Given the description of an element on the screen output the (x, y) to click on. 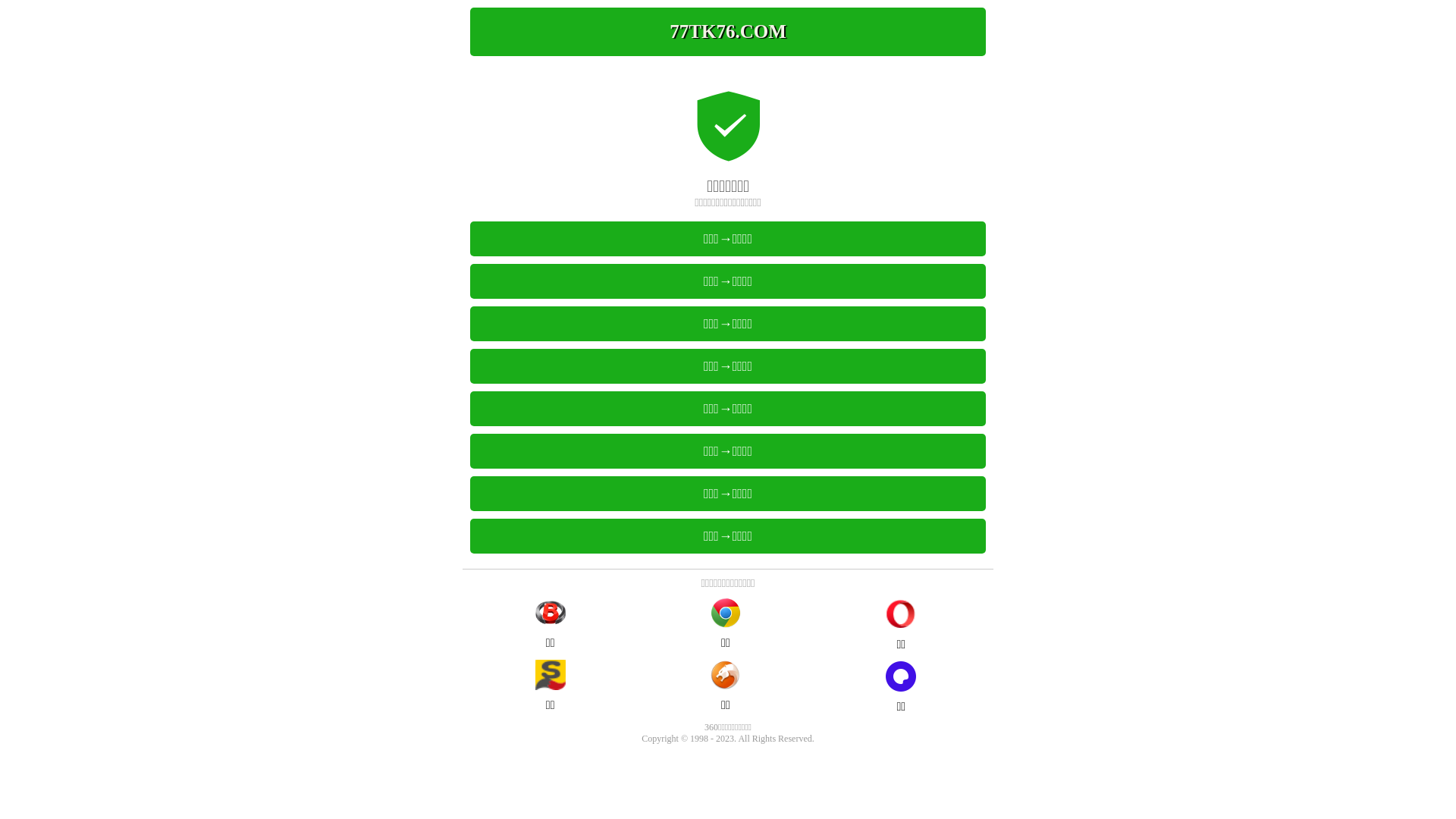
77TK75.COM Element type: text (727, 31)
